Given the description of an element on the screen output the (x, y) to click on. 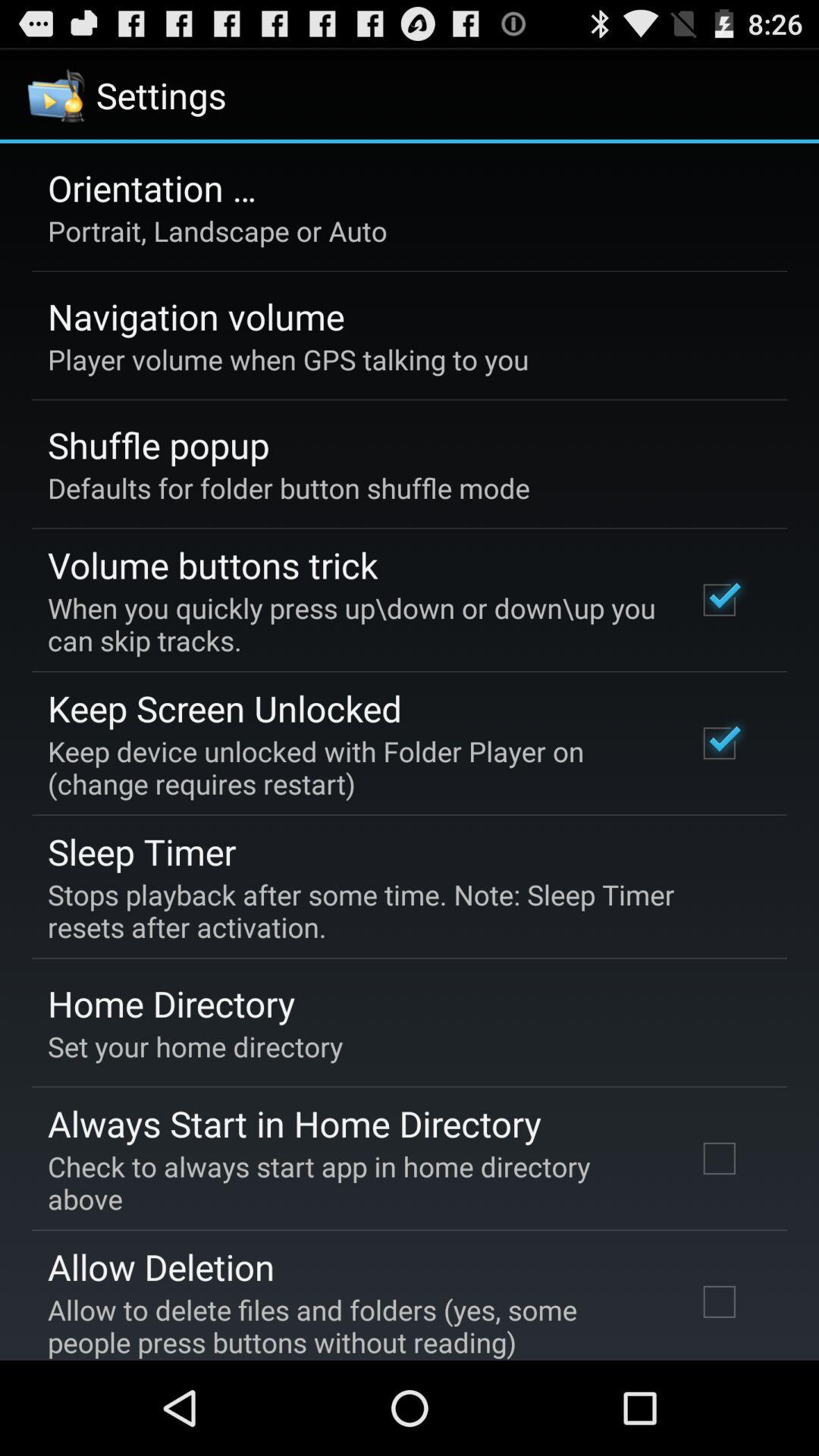
choose portrait landscape or item (217, 230)
